Given the description of an element on the screen output the (x, y) to click on. 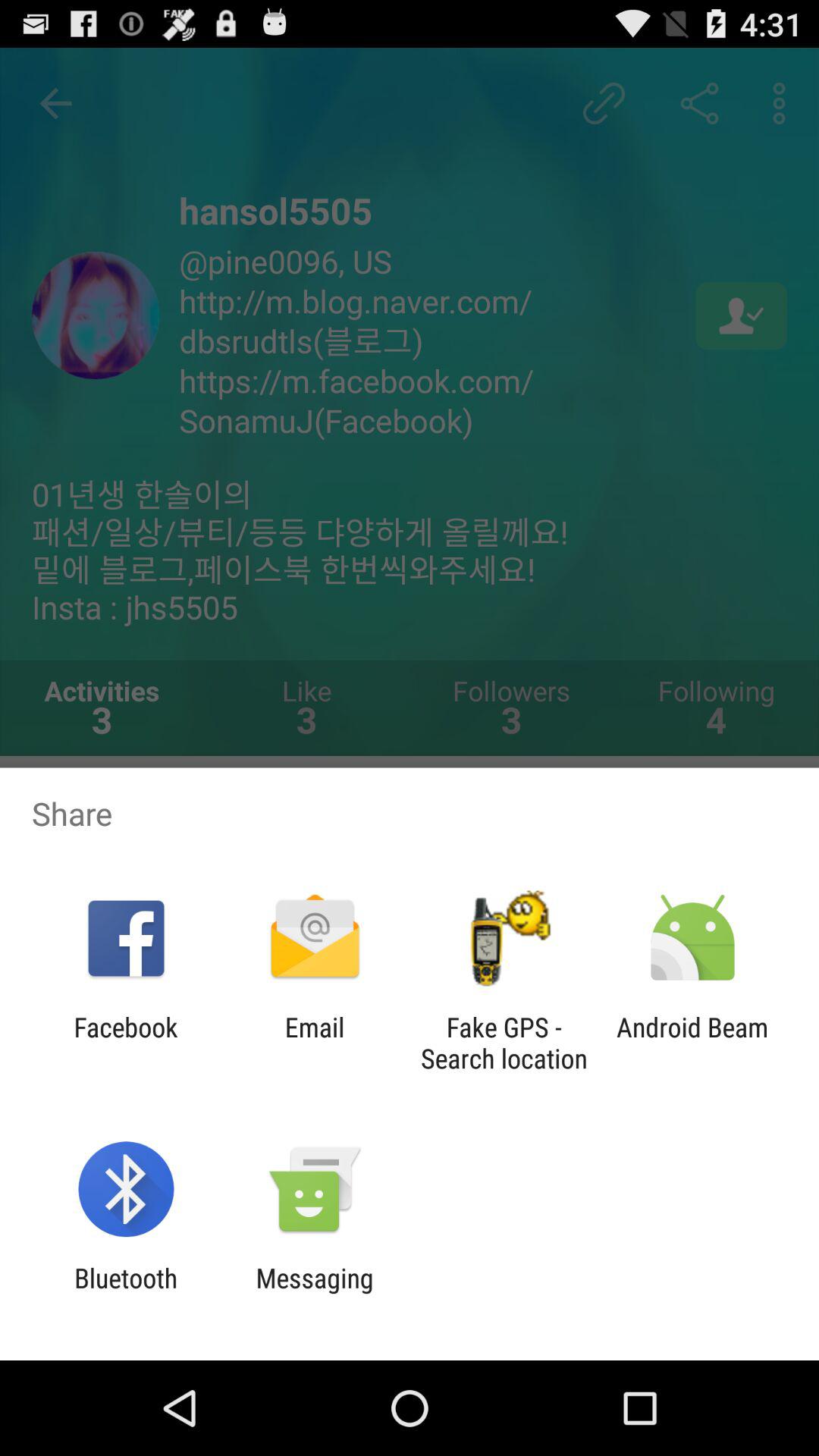
press app to the left of email item (125, 1042)
